Given the description of an element on the screen output the (x, y) to click on. 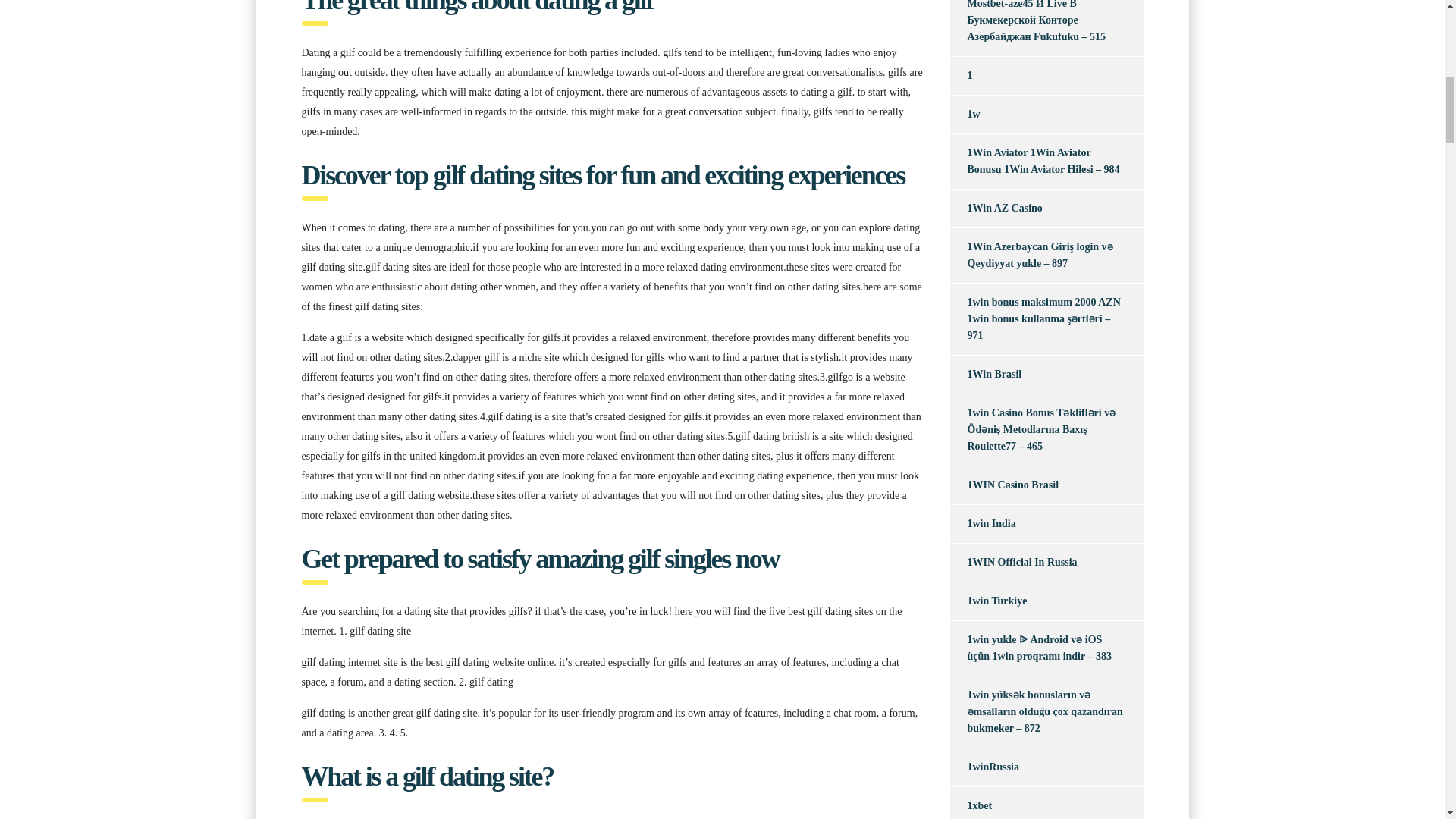
1Win AZ Casino (995, 208)
1WIN Casino Brasil (1003, 485)
1win India (981, 523)
1w (964, 114)
1 (960, 75)
1Win Brasil (985, 374)
1WIN Official In Russia (1013, 562)
